Given the description of an element on the screen output the (x, y) to click on. 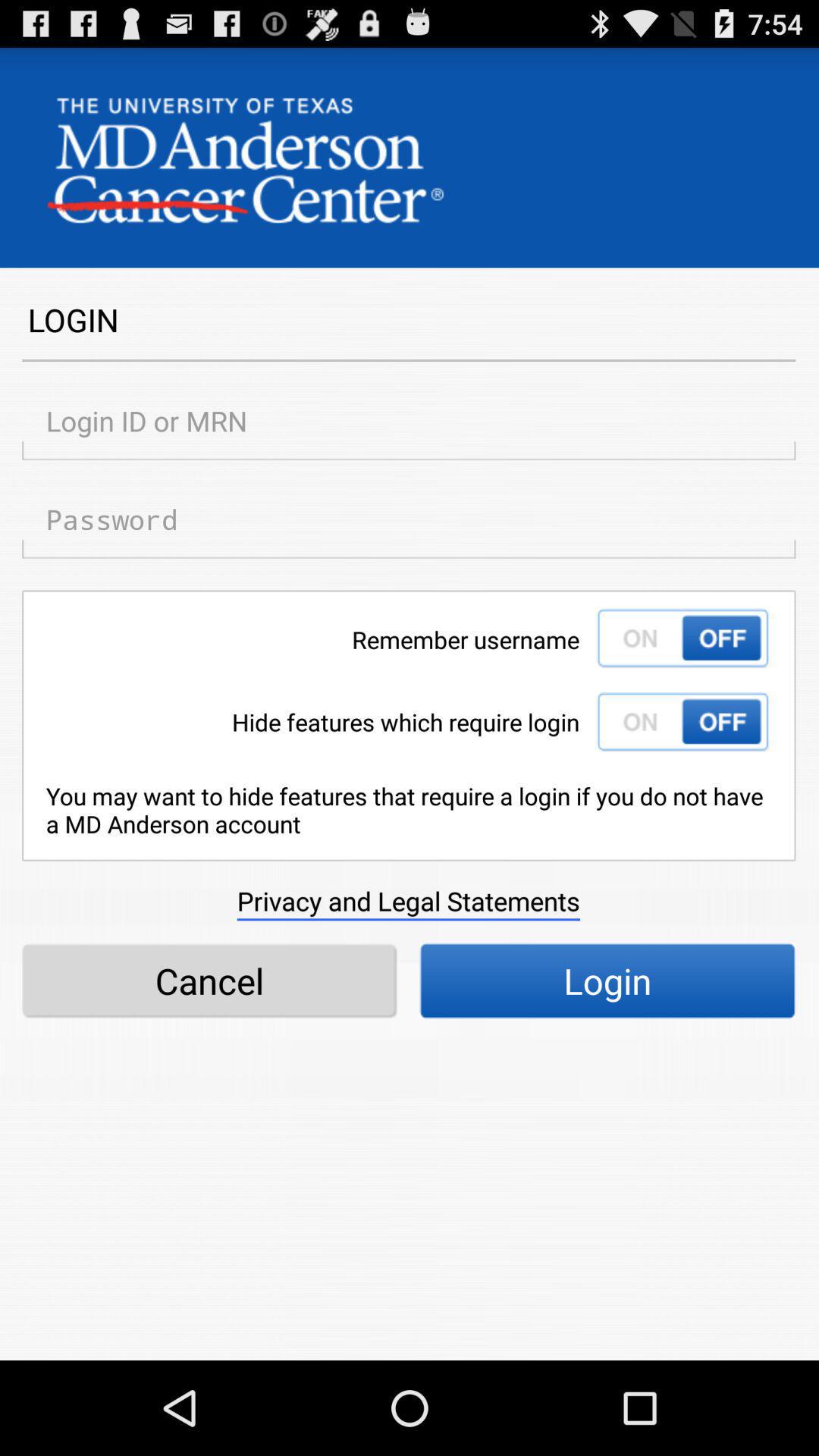
launch the cancel at the bottom left corner (209, 980)
